Given the description of an element on the screen output the (x, y) to click on. 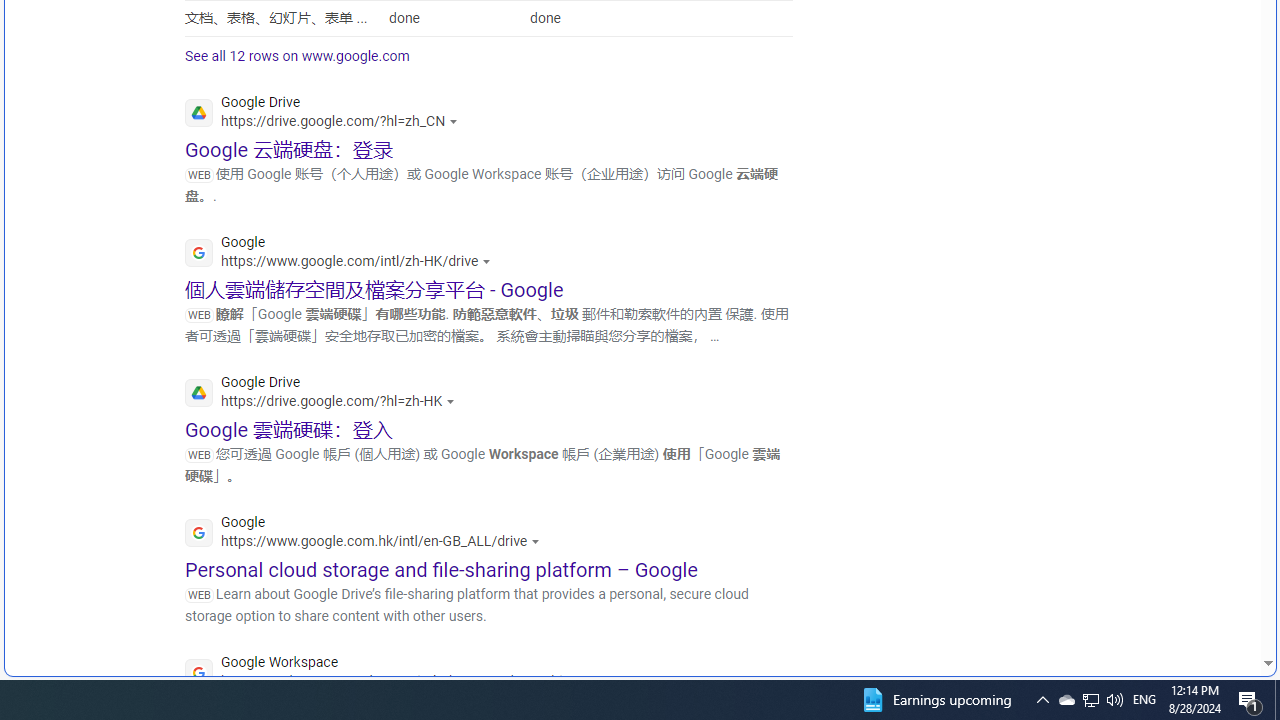
Search more (1222, 604)
